Given the description of an element on the screen output the (x, y) to click on. 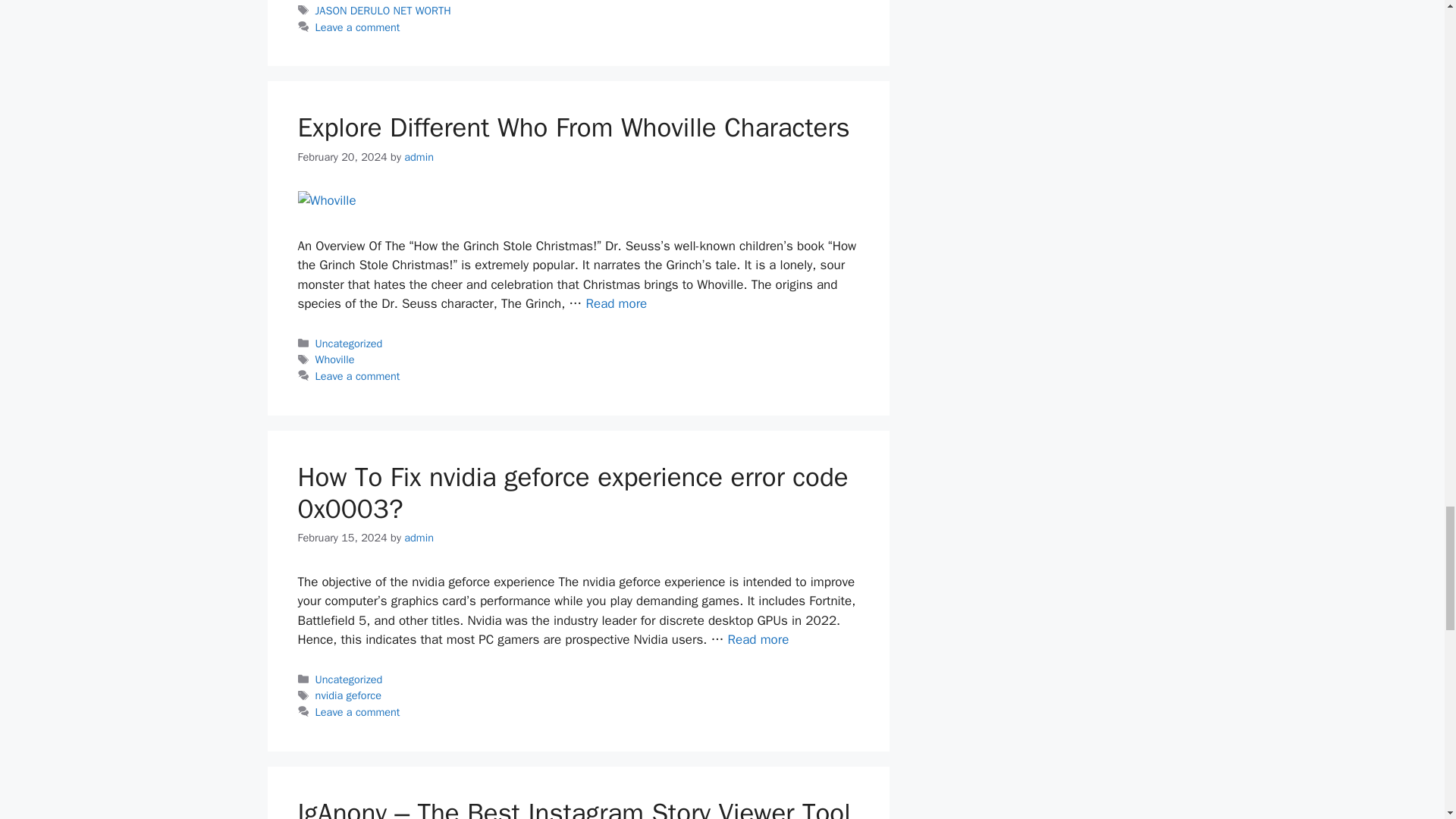
View all posts by admin (418, 537)
How To Fix nvidia geforce experience error code 0x0003? (758, 639)
Explore Different Who From Whoville Characters (615, 303)
View all posts by admin (418, 156)
